Given the description of an element on the screen output the (x, y) to click on. 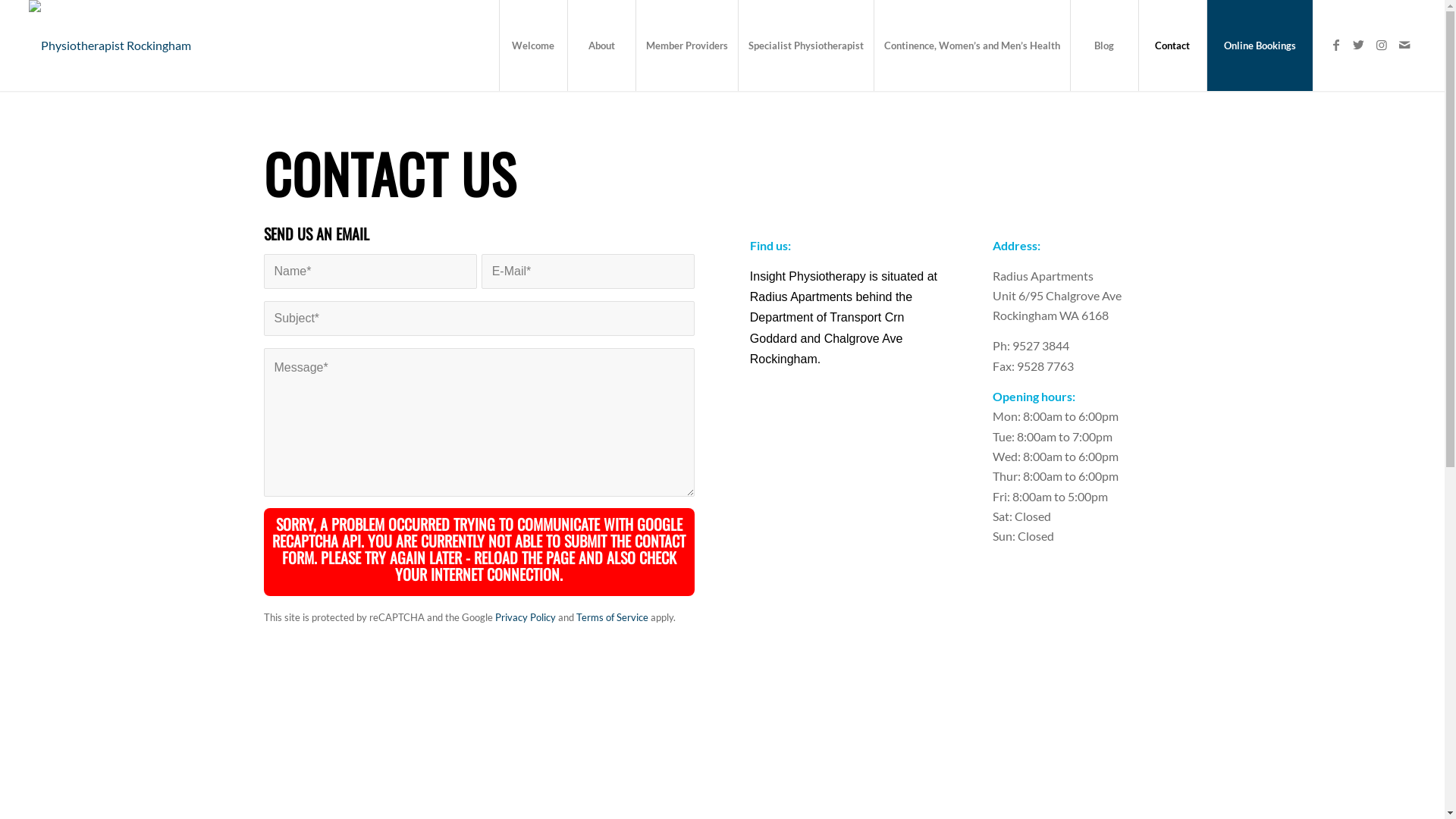
Specialist Physiotherapist Element type: text (805, 45)
Facebook Element type: hover (1335, 44)
Terms of Service Element type: text (612, 617)
Member Providers Element type: text (686, 45)
Instagram Element type: hover (1381, 44)
Online Bookings Element type: text (1259, 45)
Privacy Policy Element type: text (524, 617)
Twitter Element type: hover (1358, 44)
Welcome Element type: text (532, 45)
Blog Element type: text (1104, 45)
Contact Element type: text (1172, 45)
About Element type: text (601, 45)
Mail Element type: hover (1404, 44)
